Given the description of an element on the screen output the (x, y) to click on. 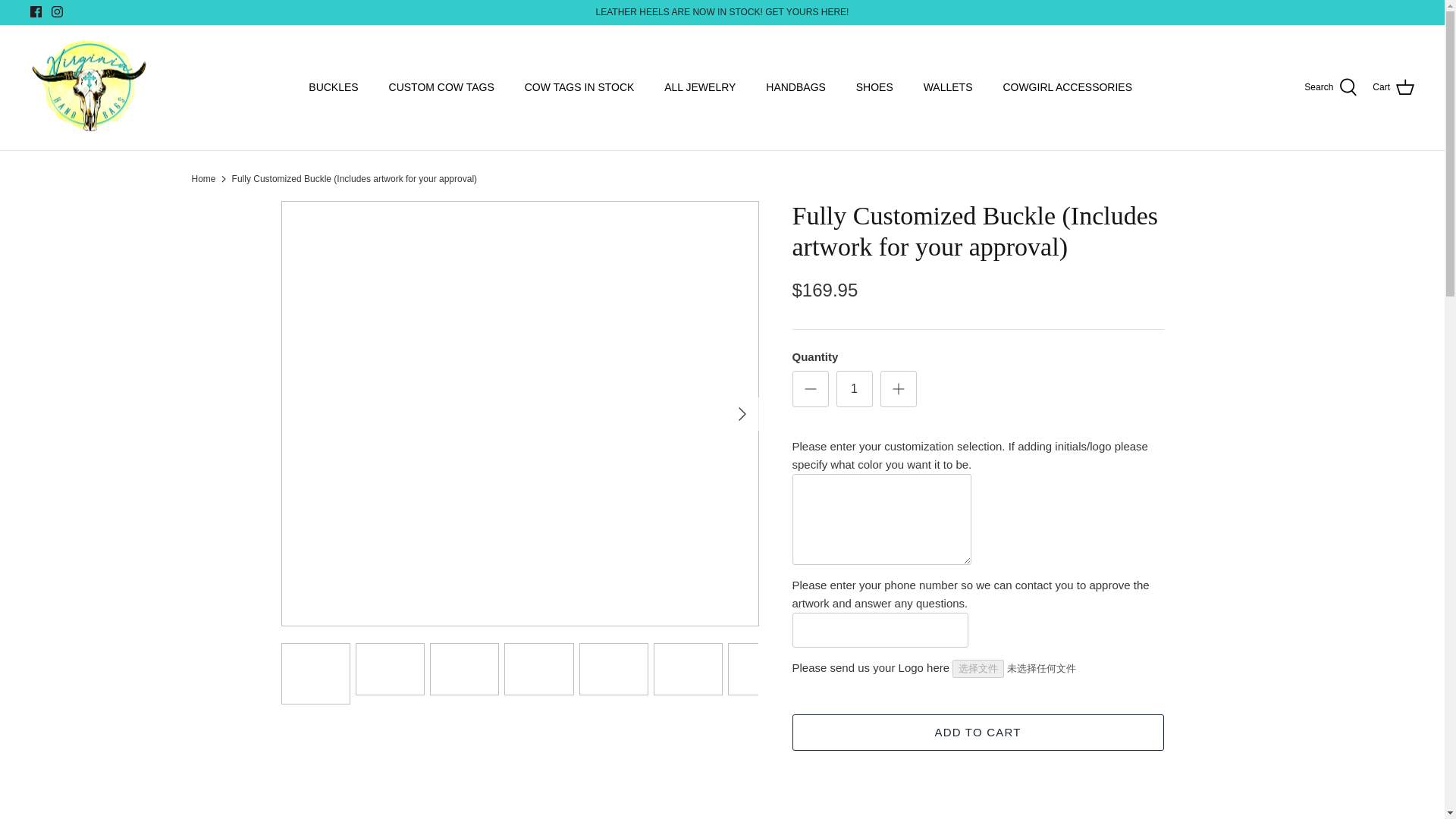
ALL JEWELRY (699, 87)
Facebook (36, 11)
Instagram (56, 11)
Virginia Handbags (89, 87)
Plus (897, 389)
COW TAGS IN STOCK (579, 87)
Instagram (56, 11)
BUCKLES (333, 87)
WALLETS (948, 87)
Search (1330, 87)
